Given the description of an element on the screen output the (x, y) to click on. 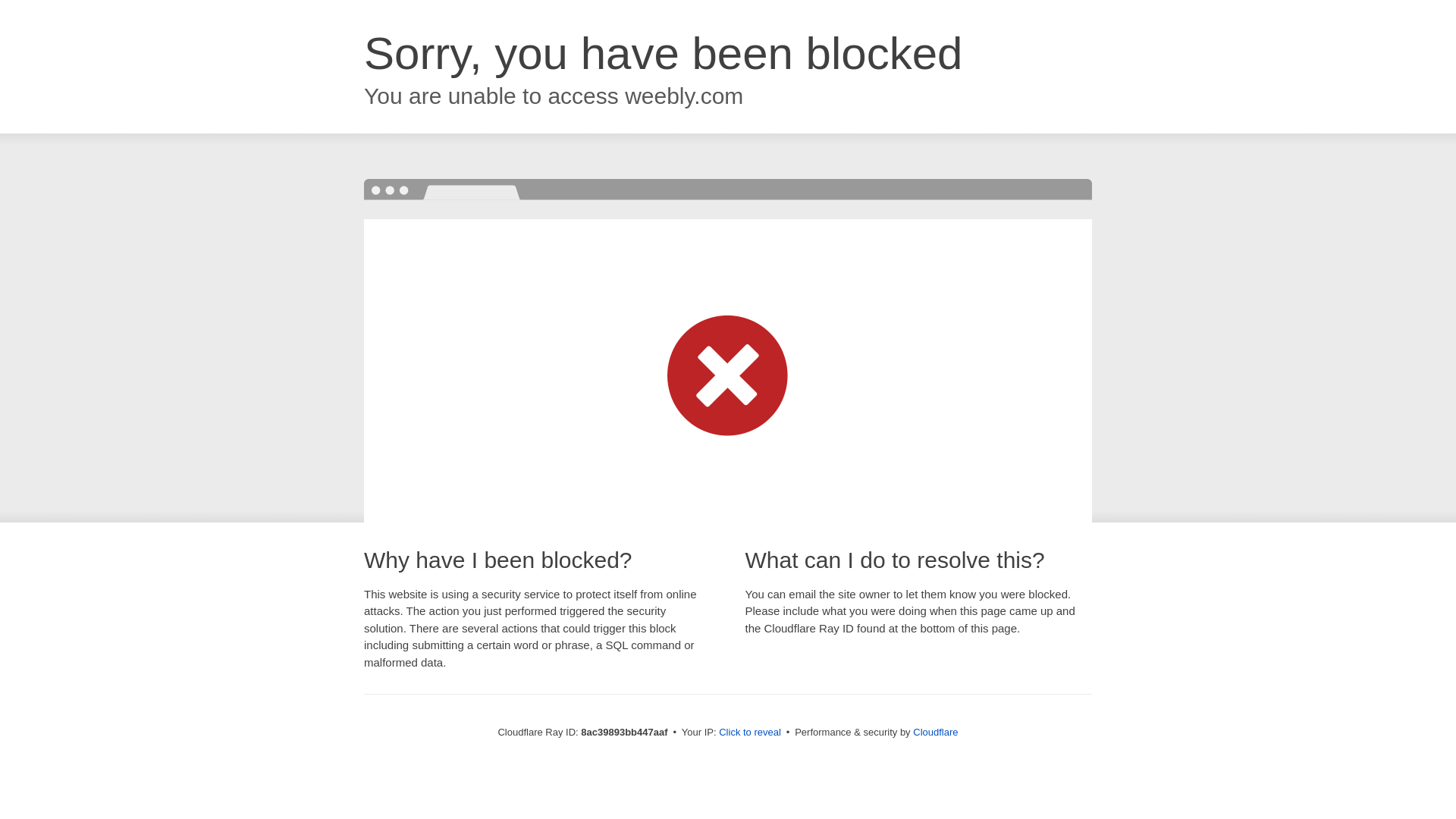
Cloudflare (935, 731)
Click to reveal (749, 732)
